Given the description of an element on the screen output the (x, y) to click on. 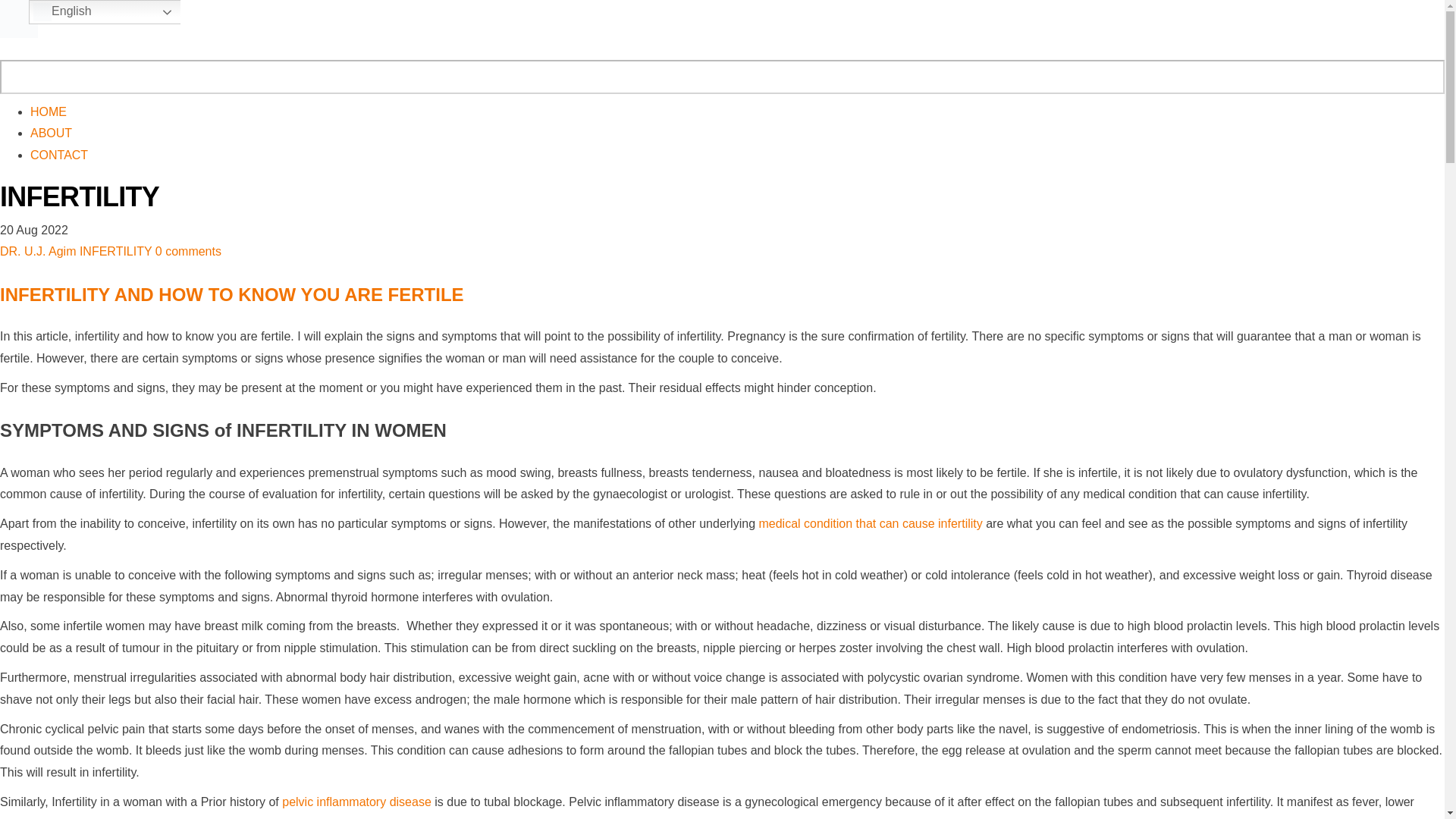
medical condition that can cause infertility (869, 522)
ABOUT (50, 132)
DR. U.J. Agim (37, 250)
INFERTILITY (115, 250)
HOME (48, 111)
Women's health (18, 17)
INFERTILITY AND HOW TO KNOW YOU ARE FERTILE (232, 294)
pelvic inflammatory disease (356, 801)
CONTACT (58, 154)
0 comments (188, 250)
